Given the description of an element on the screen output the (x, y) to click on. 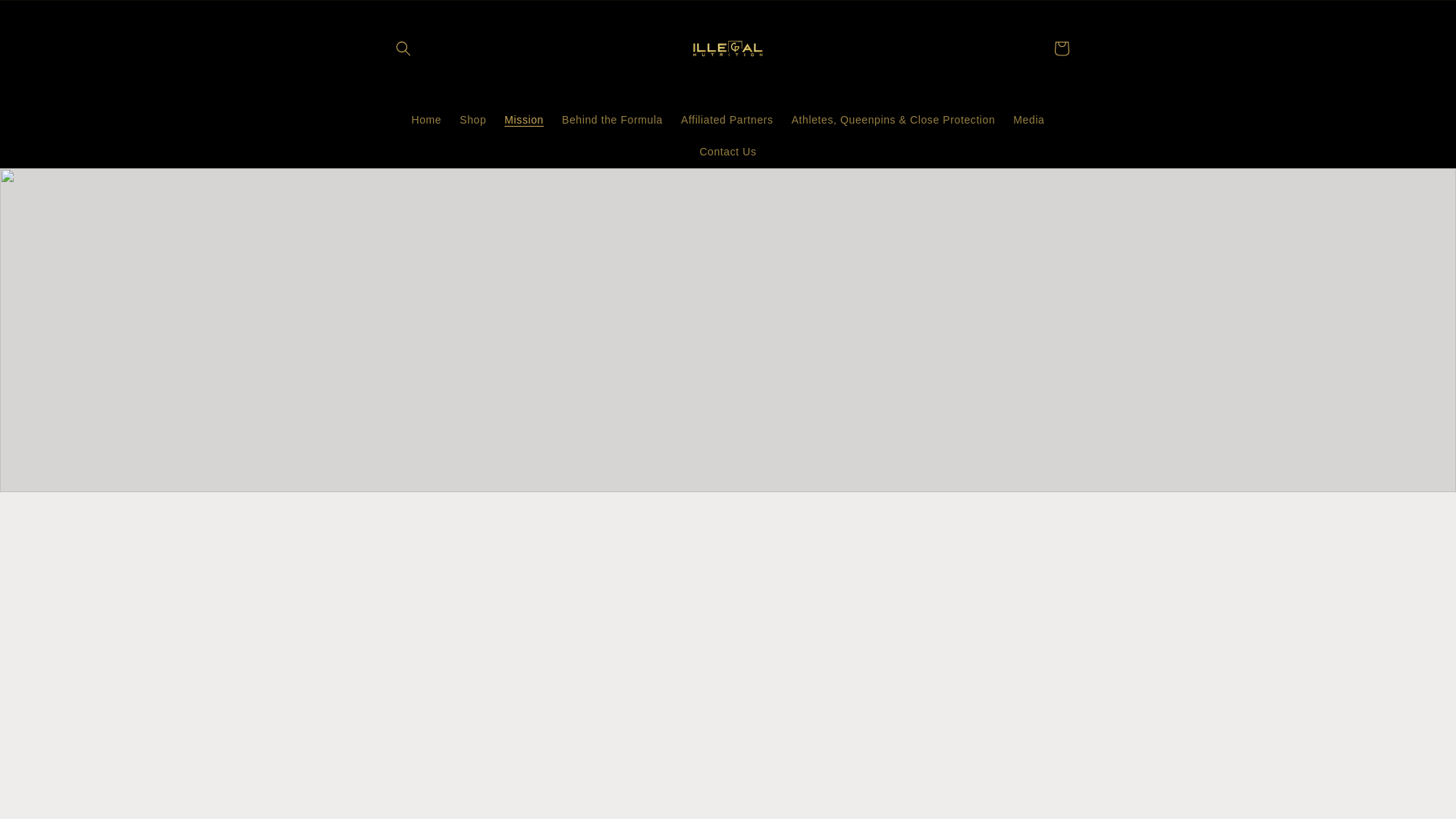
Mission (524, 119)
Behind the Formula (612, 119)
Cart (1061, 48)
Shop (472, 119)
Home (425, 119)
Affiliated Partners (727, 119)
Skip to content (47, 18)
Contact Us (727, 151)
Media (1028, 119)
